Given the description of an element on the screen output the (x, y) to click on. 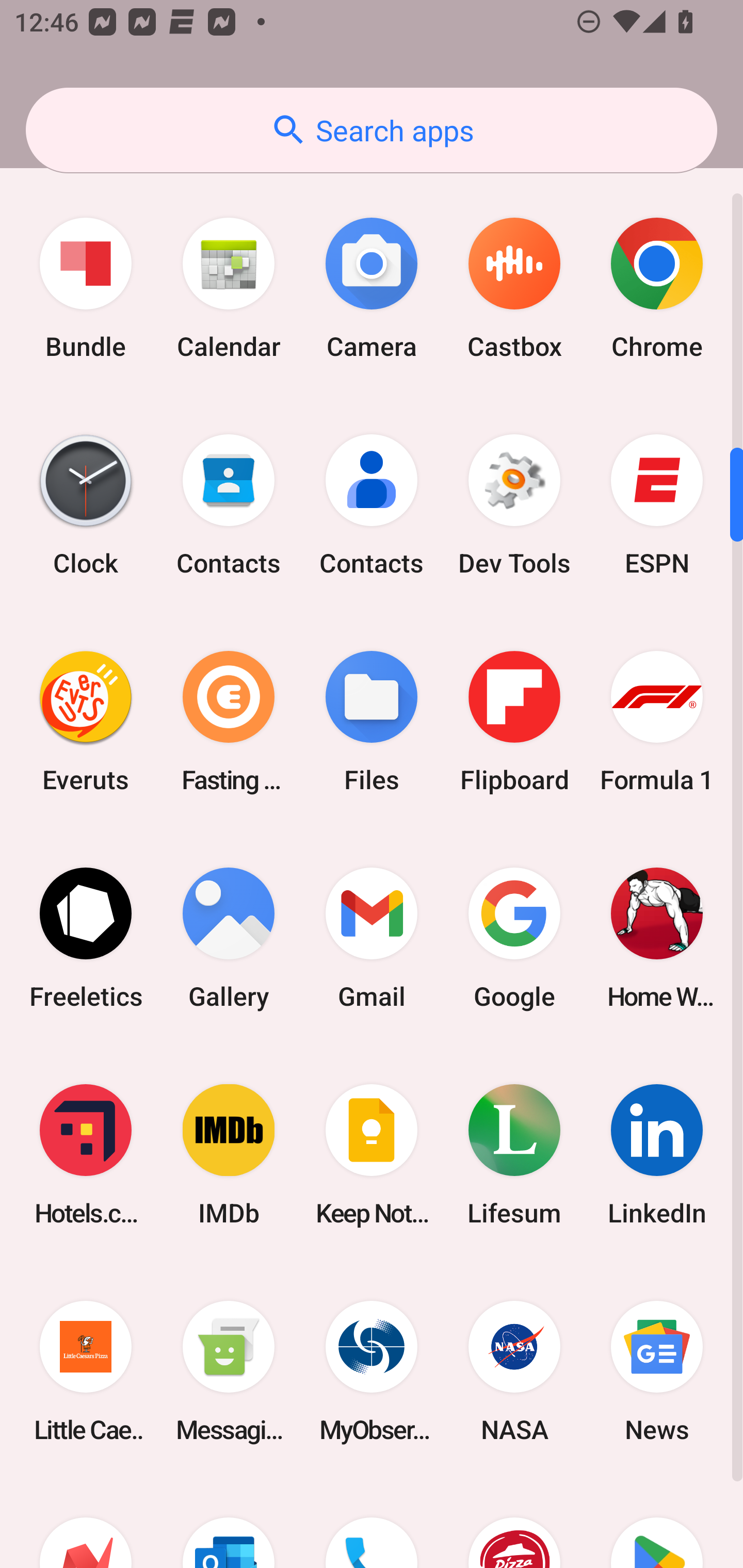
  Search apps (371, 130)
Bundle (85, 288)
Calendar (228, 288)
Camera (371, 288)
Castbox (514, 288)
Chrome (656, 288)
Clock (85, 504)
Contacts (228, 504)
Contacts (371, 504)
Dev Tools (514, 504)
ESPN (656, 504)
Everuts (85, 721)
Fasting Coach (228, 721)
Files (371, 721)
Flipboard (514, 721)
Formula 1 (656, 721)
Freeletics (85, 937)
Gallery (228, 937)
Gmail (371, 937)
Google (514, 937)
Home Workout (656, 937)
Hotels.com (85, 1154)
IMDb (228, 1154)
Keep Notes (371, 1154)
Lifesum (514, 1154)
LinkedIn (656, 1154)
Little Caesars Pizza (85, 1371)
Messaging (228, 1371)
MyObservatory (371, 1371)
NASA (514, 1371)
News (656, 1371)
